Given the description of an element on the screen output the (x, y) to click on. 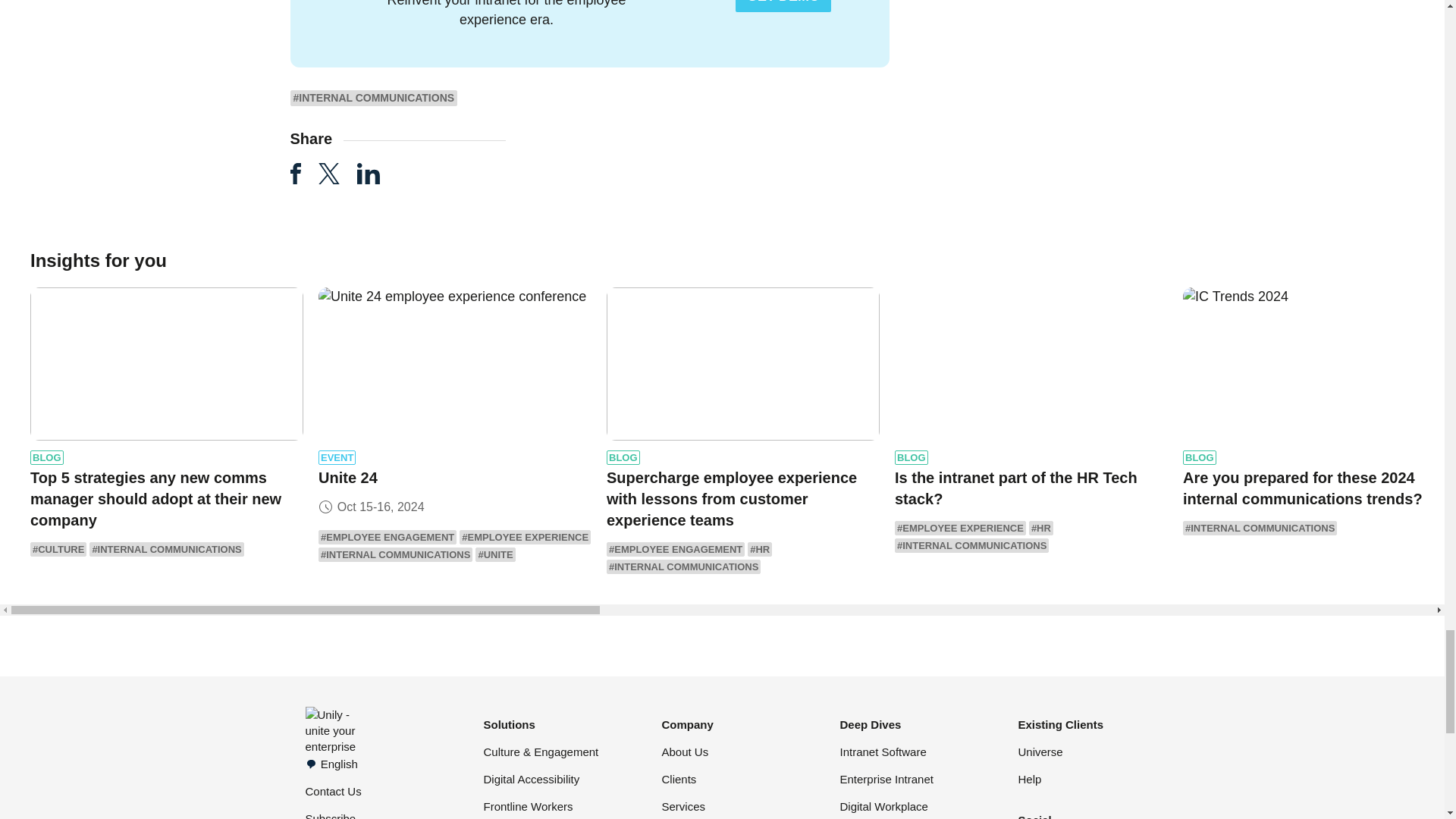
Is the intranet part of the HR Tech stack? (1031, 363)
